Given the description of an element on the screen output the (x, y) to click on. 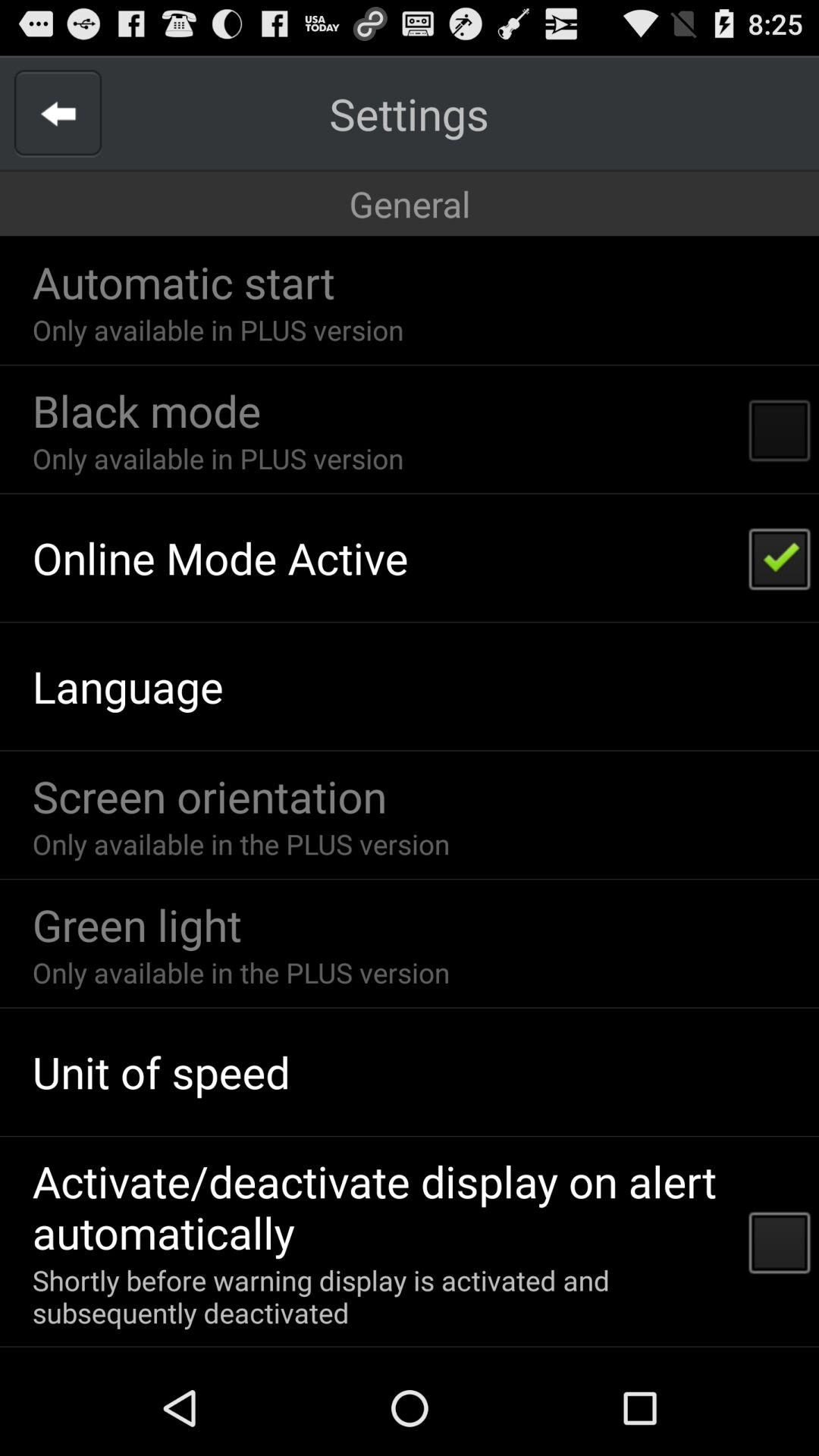
turn on item below the general app (183, 281)
